Given the description of an element on the screen output the (x, y) to click on. 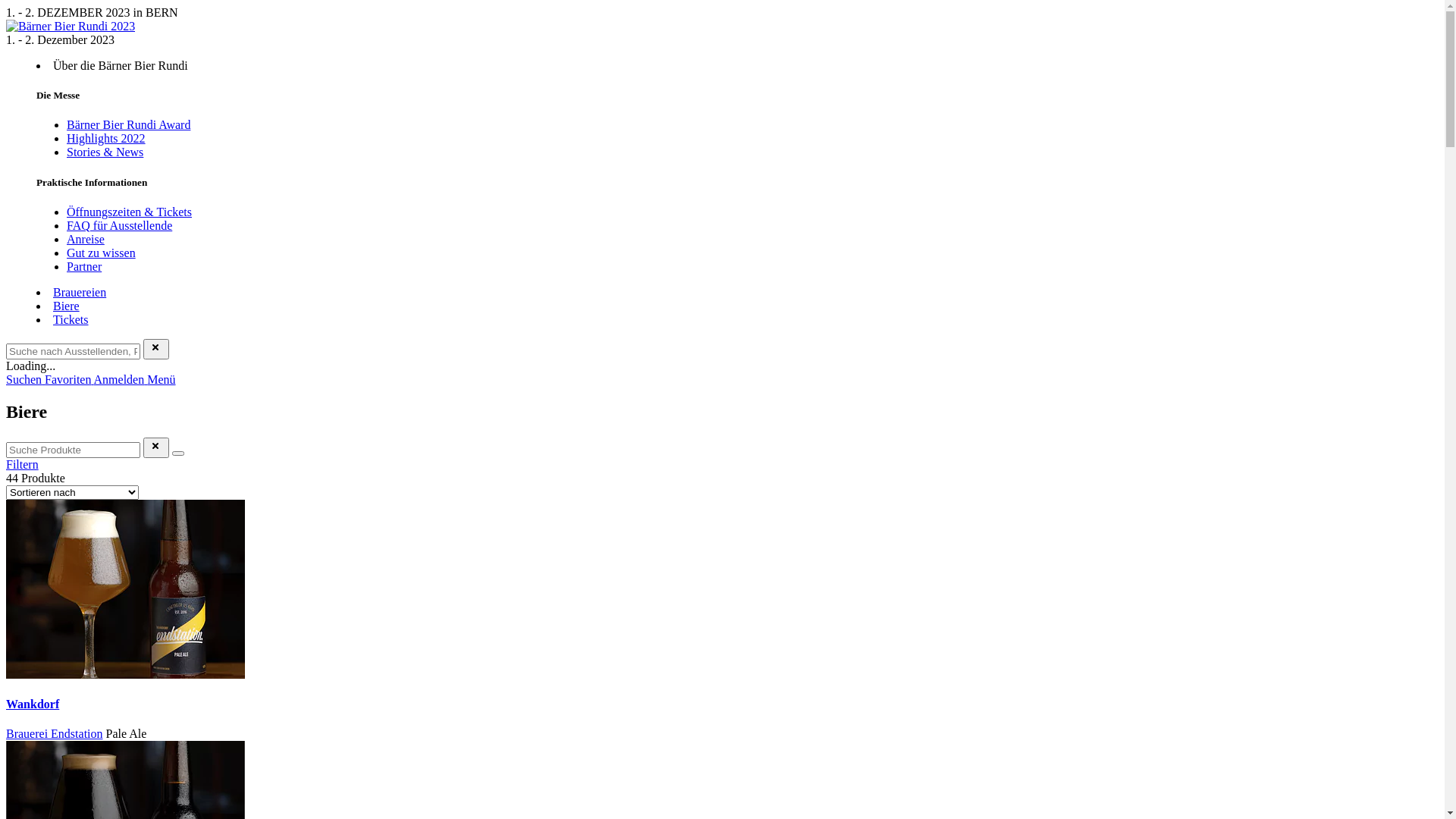
Partner Element type: text (83, 266)
Brauerei Endstation Element type: text (54, 733)
Filtern Element type: text (22, 464)
Gut zu wissen Element type: text (100, 252)
Favoriten Element type: text (68, 379)
Wankdorf Element type: text (32, 703)
Suchen Element type: text (25, 379)
Stories & News Element type: text (104, 151)
Highlights 2022 Element type: text (105, 137)
Anreise Element type: text (85, 238)
Tickets Element type: text (70, 319)
Brauereien Element type: text (79, 291)
Anmelden Element type: text (120, 379)
Biere Element type: text (66, 305)
